Given the description of an element on the screen output the (x, y) to click on. 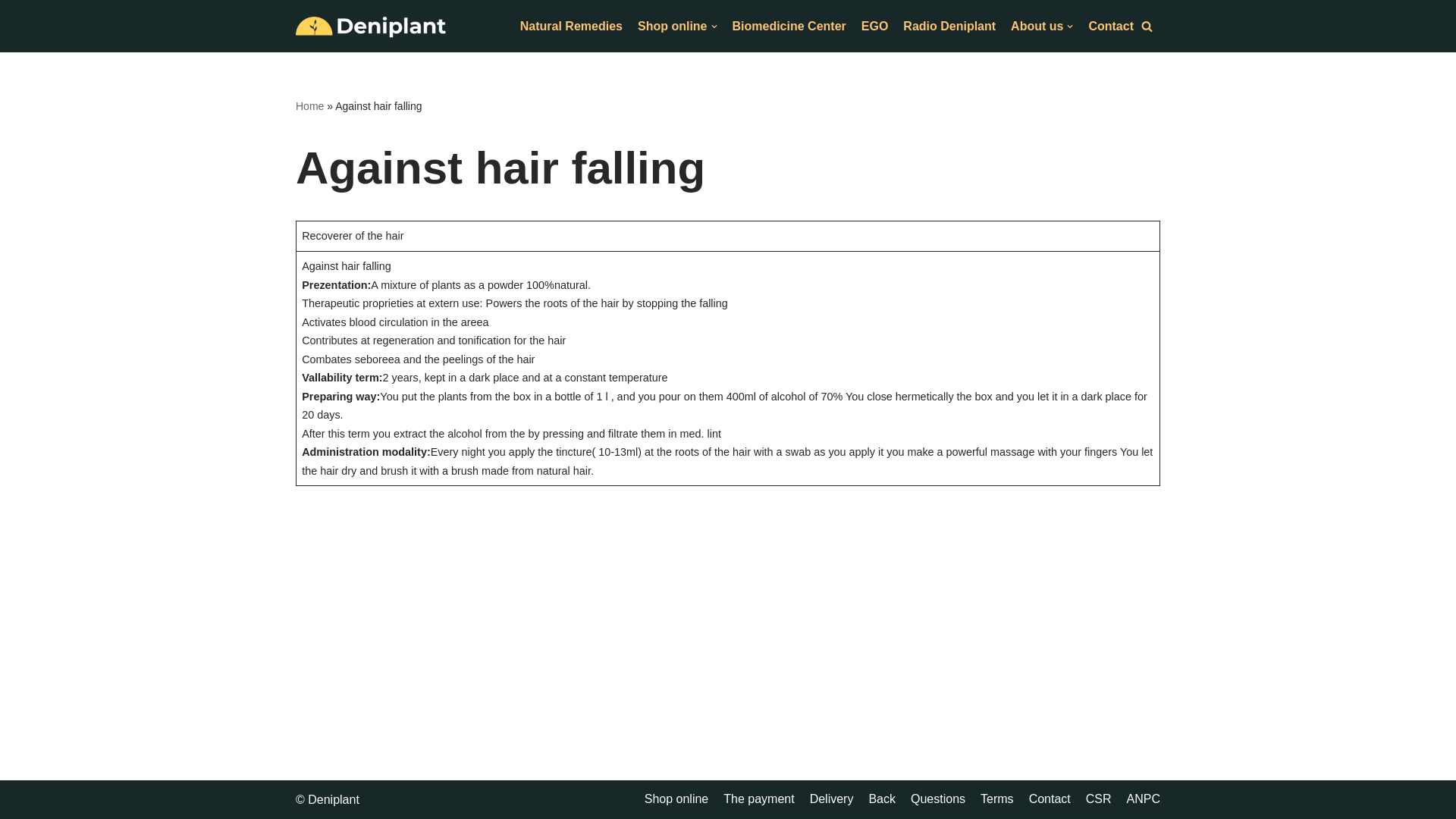
Deniplant (370, 25)
Contact (1110, 26)
Biomedicine Center (788, 26)
Shop online (677, 26)
Skip to content (11, 31)
Radio Deniplant (948, 26)
EGO (874, 26)
Natural Remedies (571, 26)
About us (1041, 26)
